Given the description of an element on the screen output the (x, y) to click on. 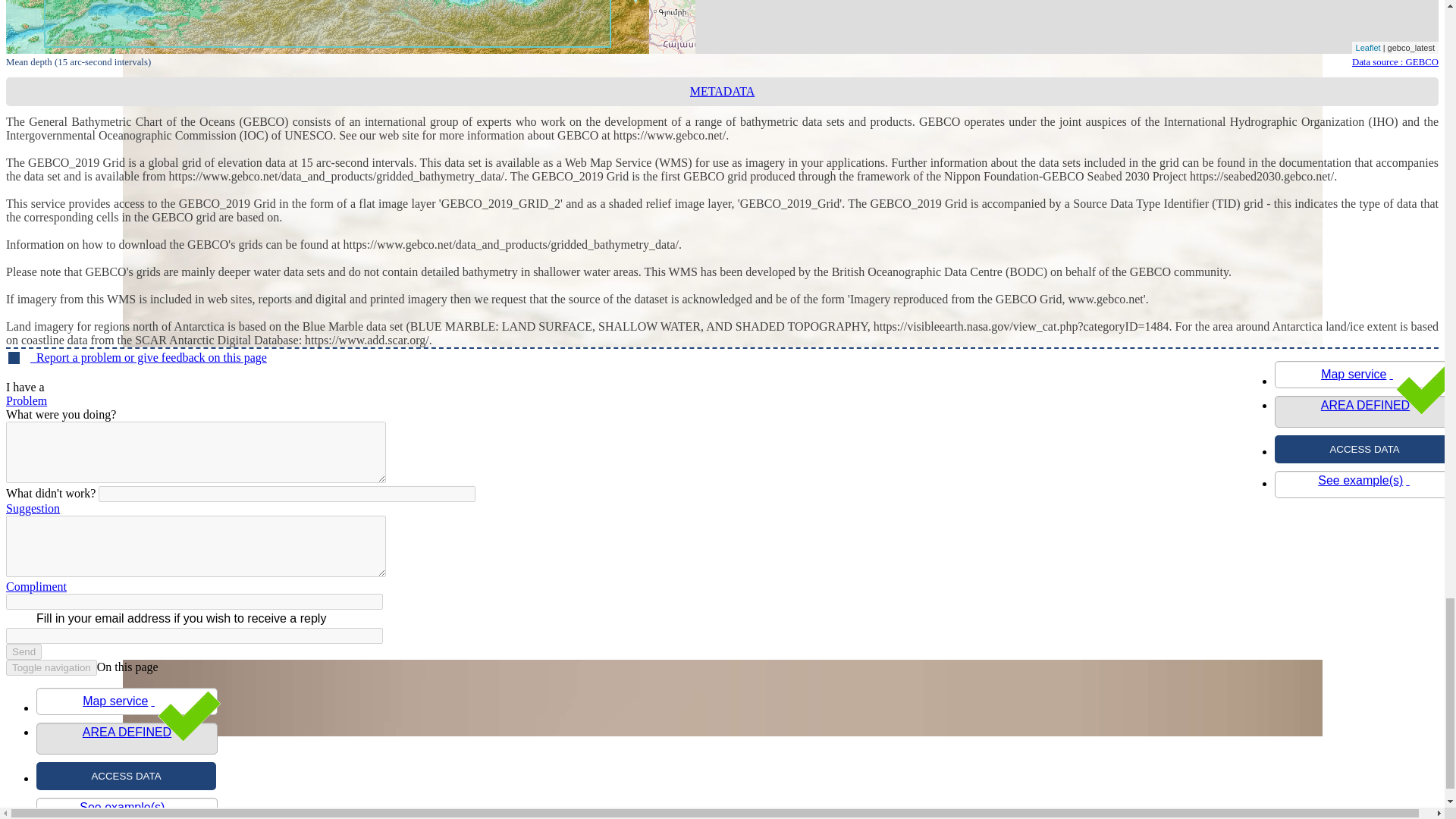
ACCESS DATA (125, 776)
